Given the description of an element on the screen output the (x, y) to click on. 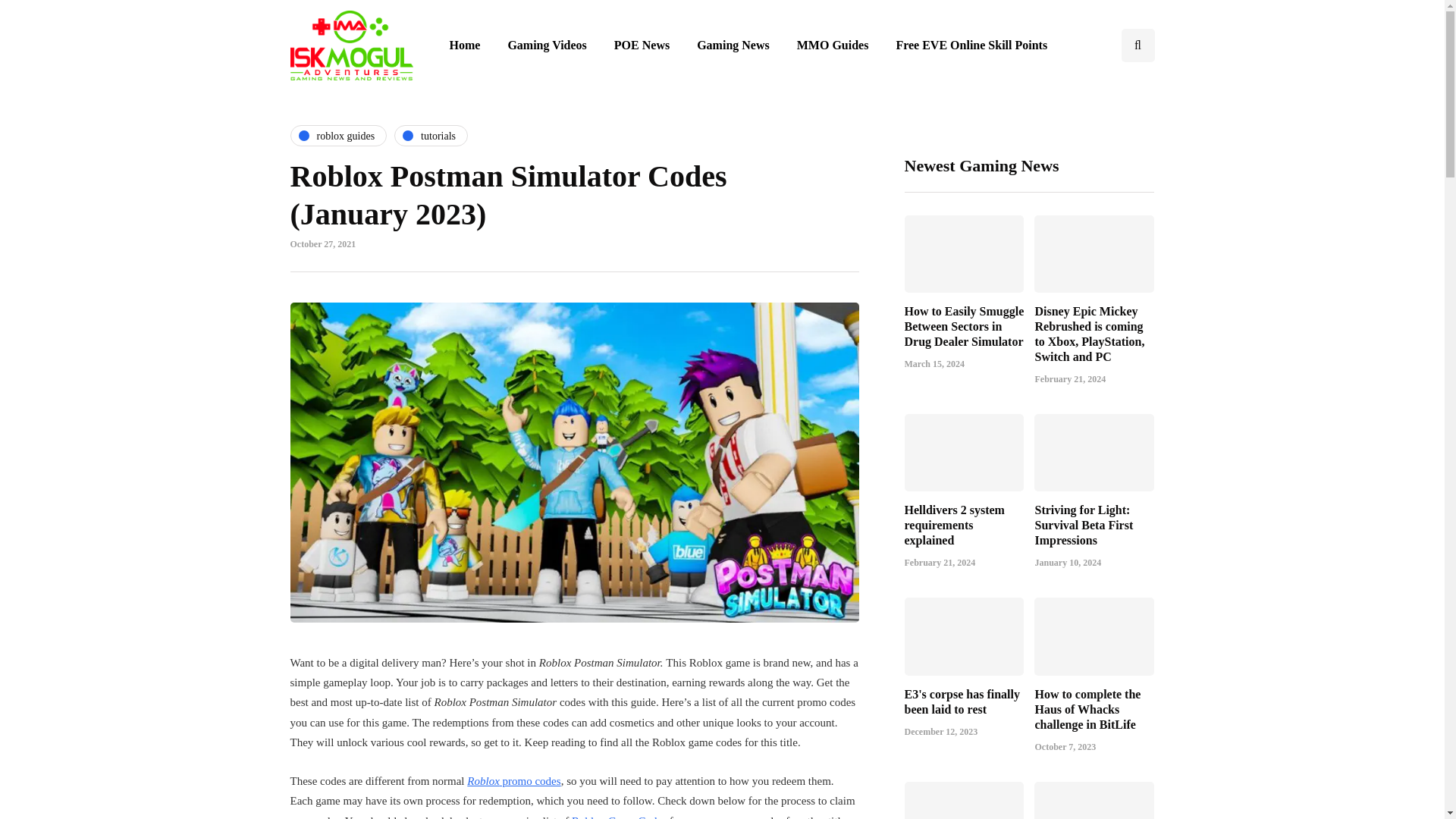
Free EVE Online Skill Points (971, 45)
MMO Guides (832, 45)
Roblox promo codes (513, 780)
Gaming Videos (546, 45)
Gaming News (732, 45)
POE News (640, 45)
Home (464, 45)
tutorials (430, 135)
roblox guides (338, 135)
Roblox Game Codes (619, 816)
